Given the description of an element on the screen output the (x, y) to click on. 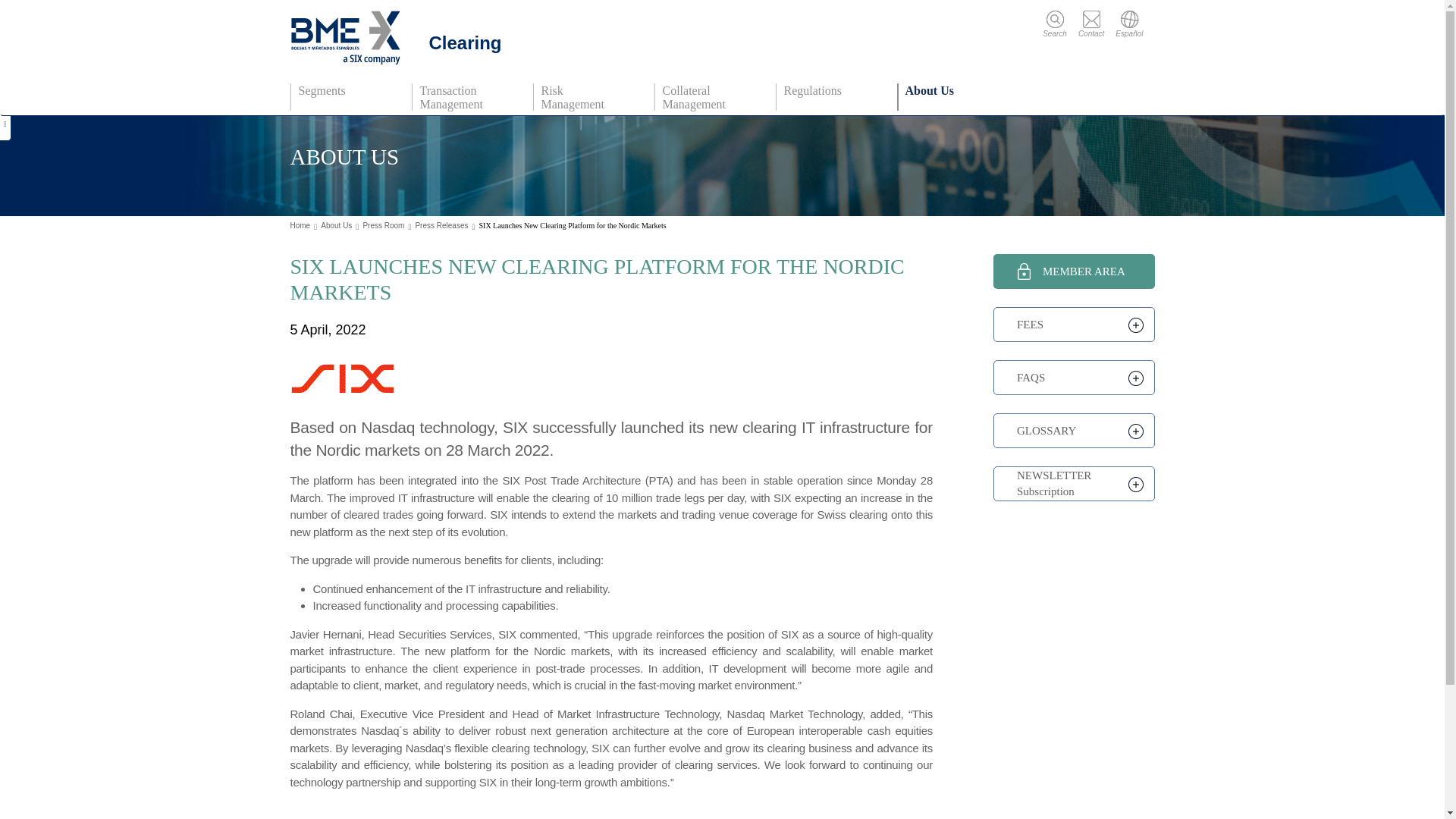
Contact (1096, 23)
Search (1060, 23)
Segments (348, 96)
Clearing (400, 37)
